Given the description of an element on the screen output the (x, y) to click on. 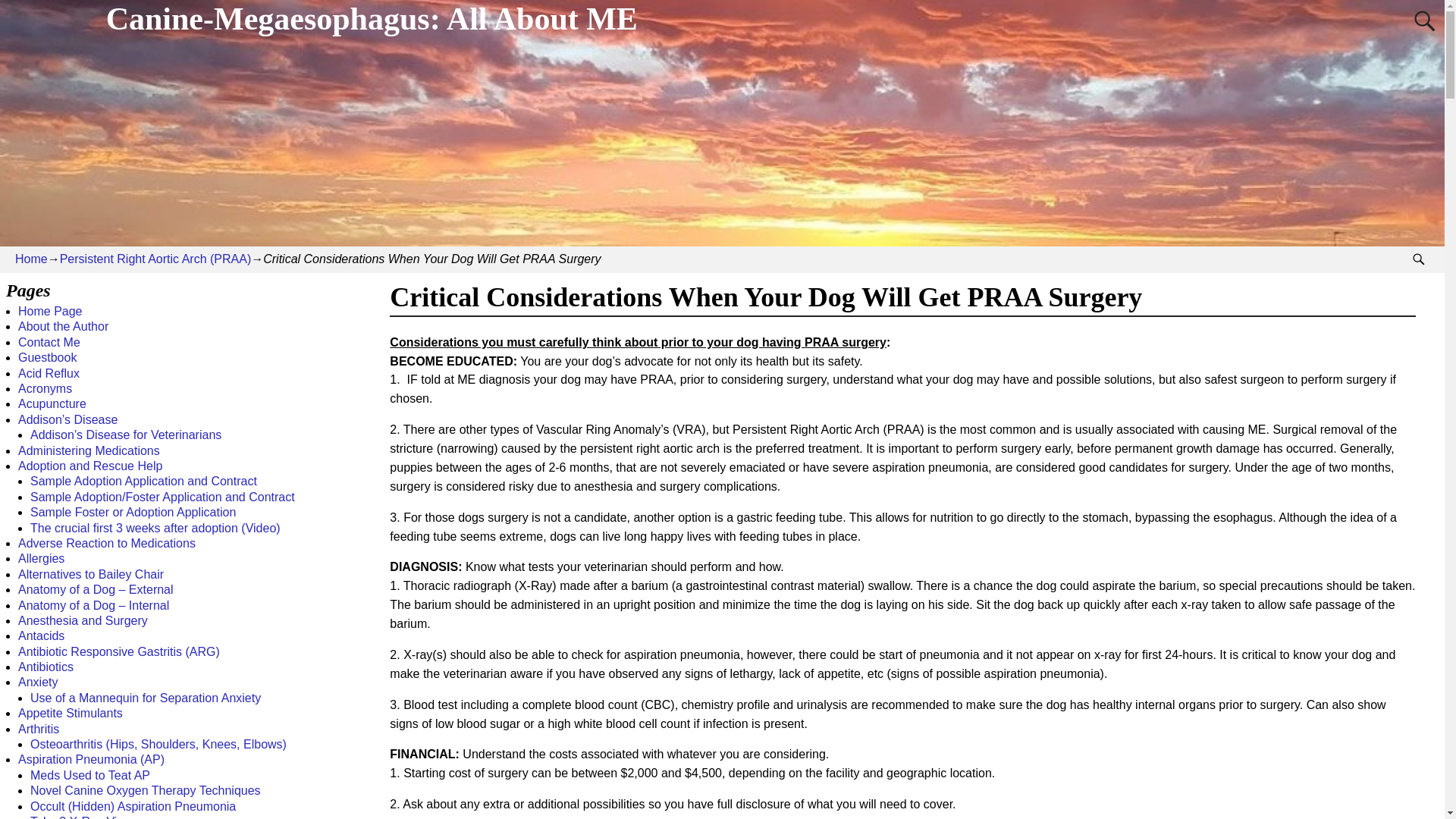
Canine-Megaesophagus: All About ME (371, 18)
Canine-Megaesophagus: All About ME (371, 18)
